Given the description of an element on the screen output the (x, y) to click on. 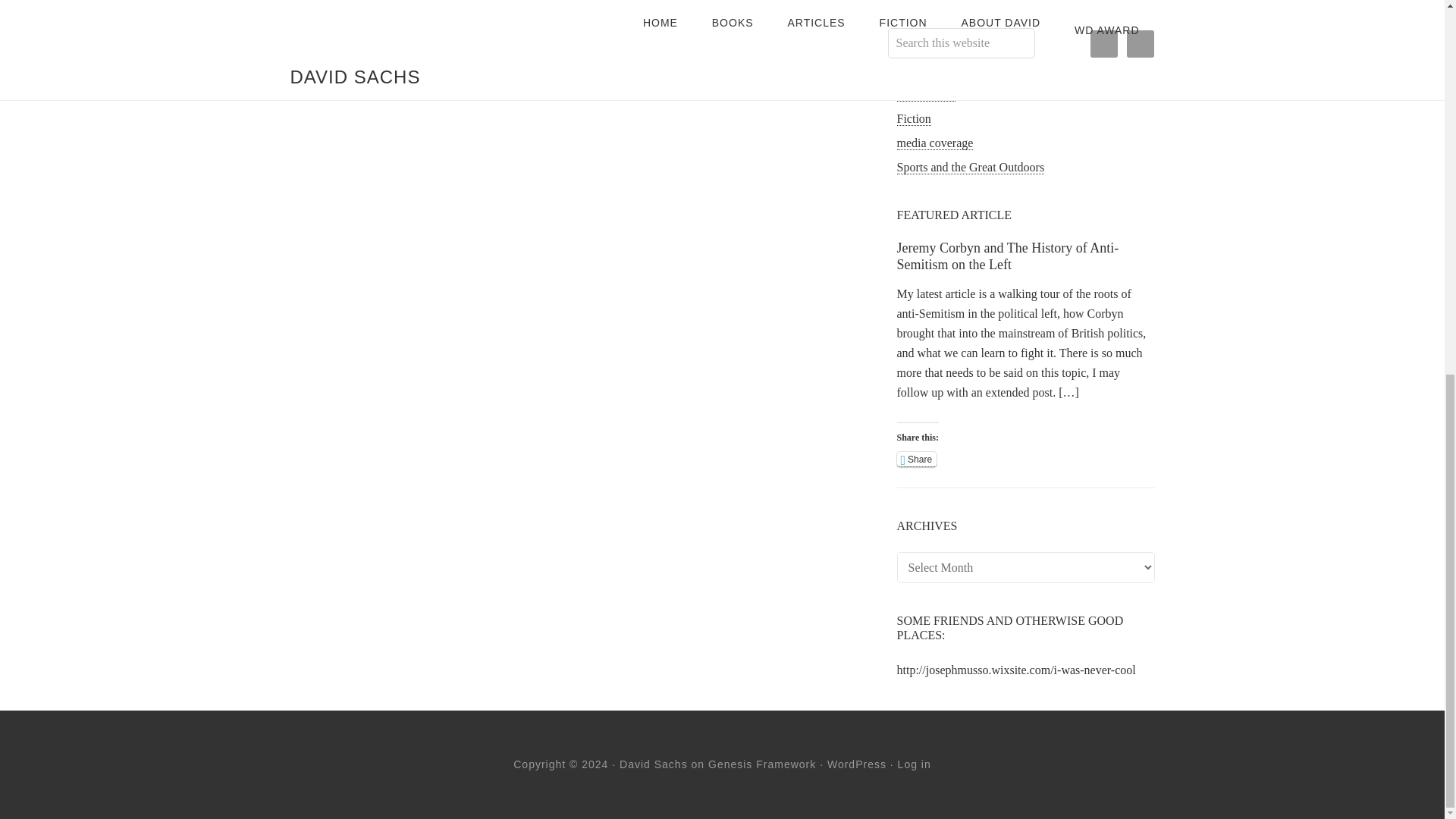
Artsy (909, 46)
Fiction (913, 119)
media coverage (934, 142)
Jeremy Corbyn and The History of Anti-Semitism on the Left (1007, 255)
Log in (914, 764)
David's mix (925, 94)
Share (916, 459)
Genesis Framework (761, 764)
Sports and the Great Outdoors (969, 167)
WordPress (856, 764)
